Given the description of an element on the screen output the (x, y) to click on. 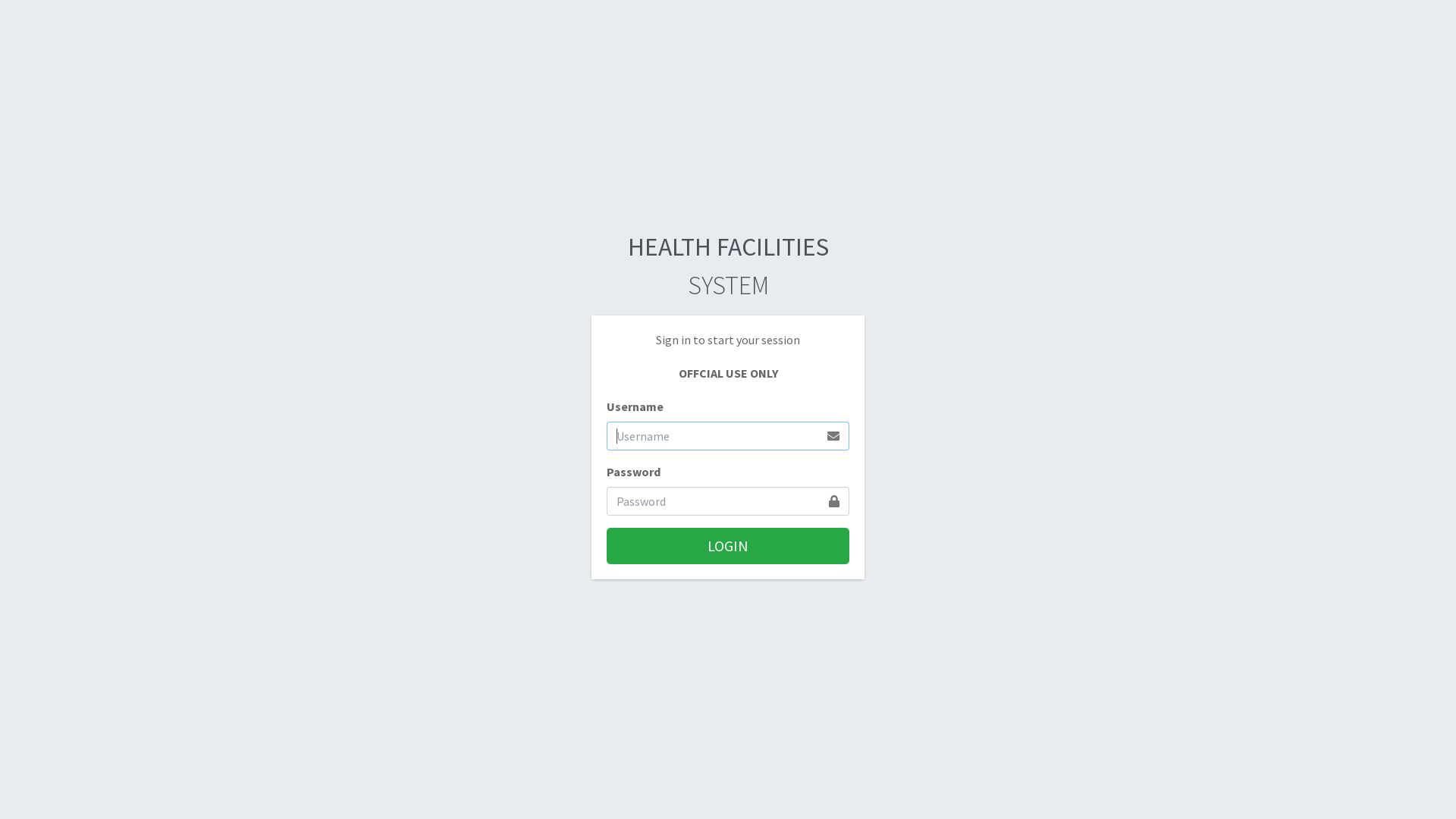
HEALTH FACILITIES SYSTEM Element type: text (727, 265)
LOGIN Element type: text (727, 545)
